Given the description of an element on the screen output the (x, y) to click on. 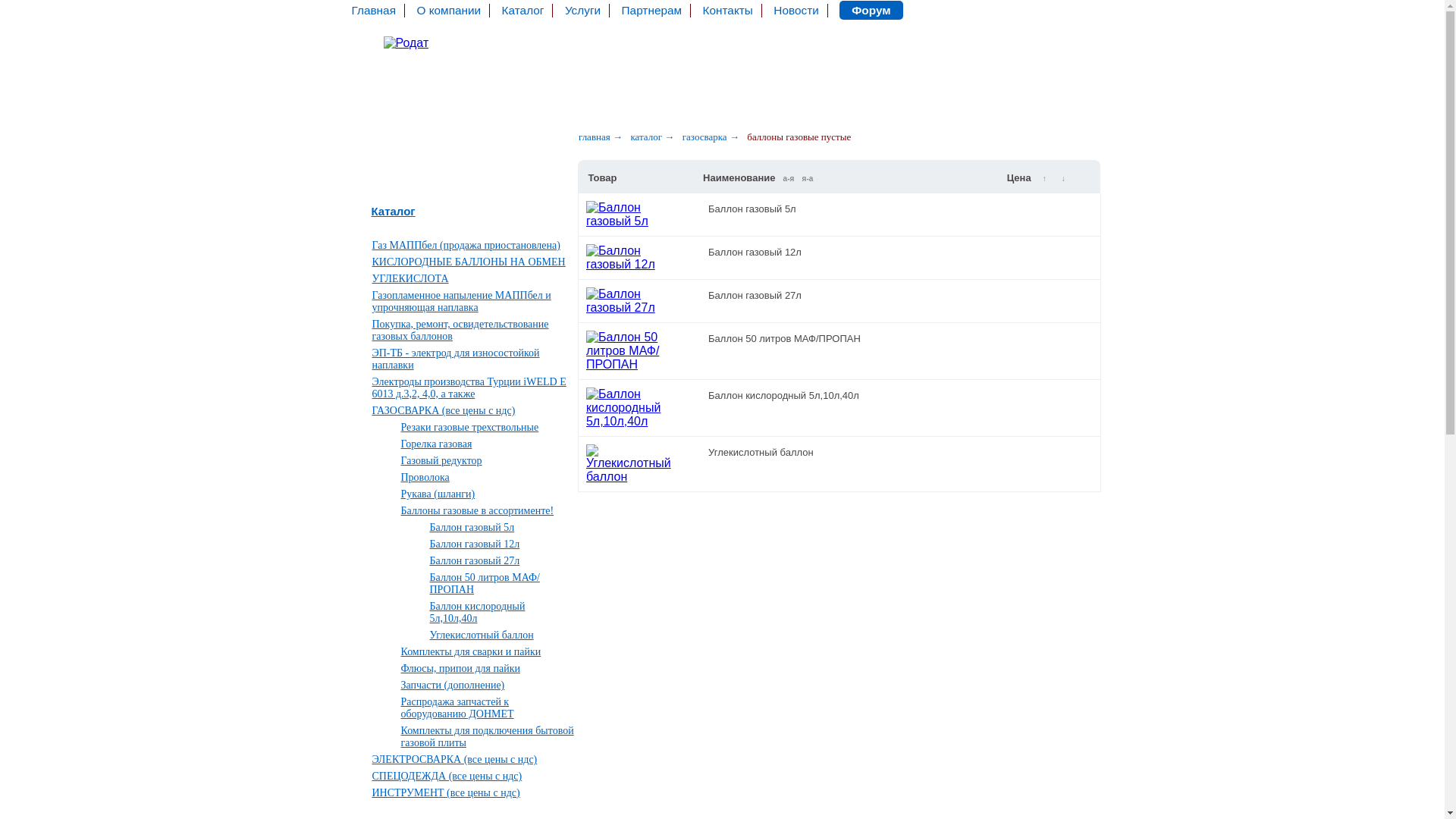
+375(29) 695-06-66 Element type: text (426, 71)
+375(17) 263-63-92 Element type: text (1033, 53)
+375(17) 373-65-19 Element type: text (1033, 36)
